Given the description of an element on the screen output the (x, y) to click on. 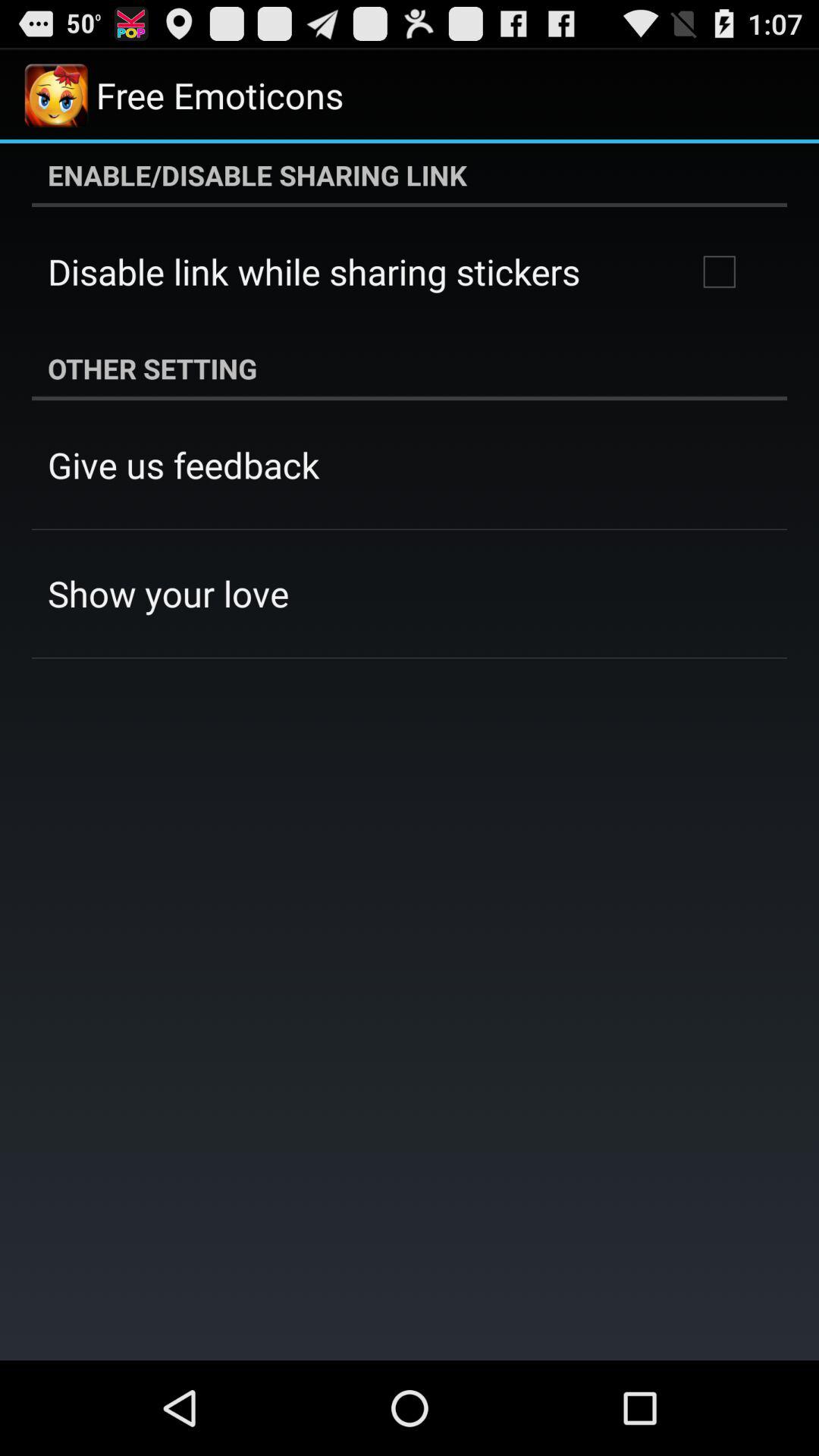
tap give us feedback (183, 464)
